Given the description of an element on the screen output the (x, y) to click on. 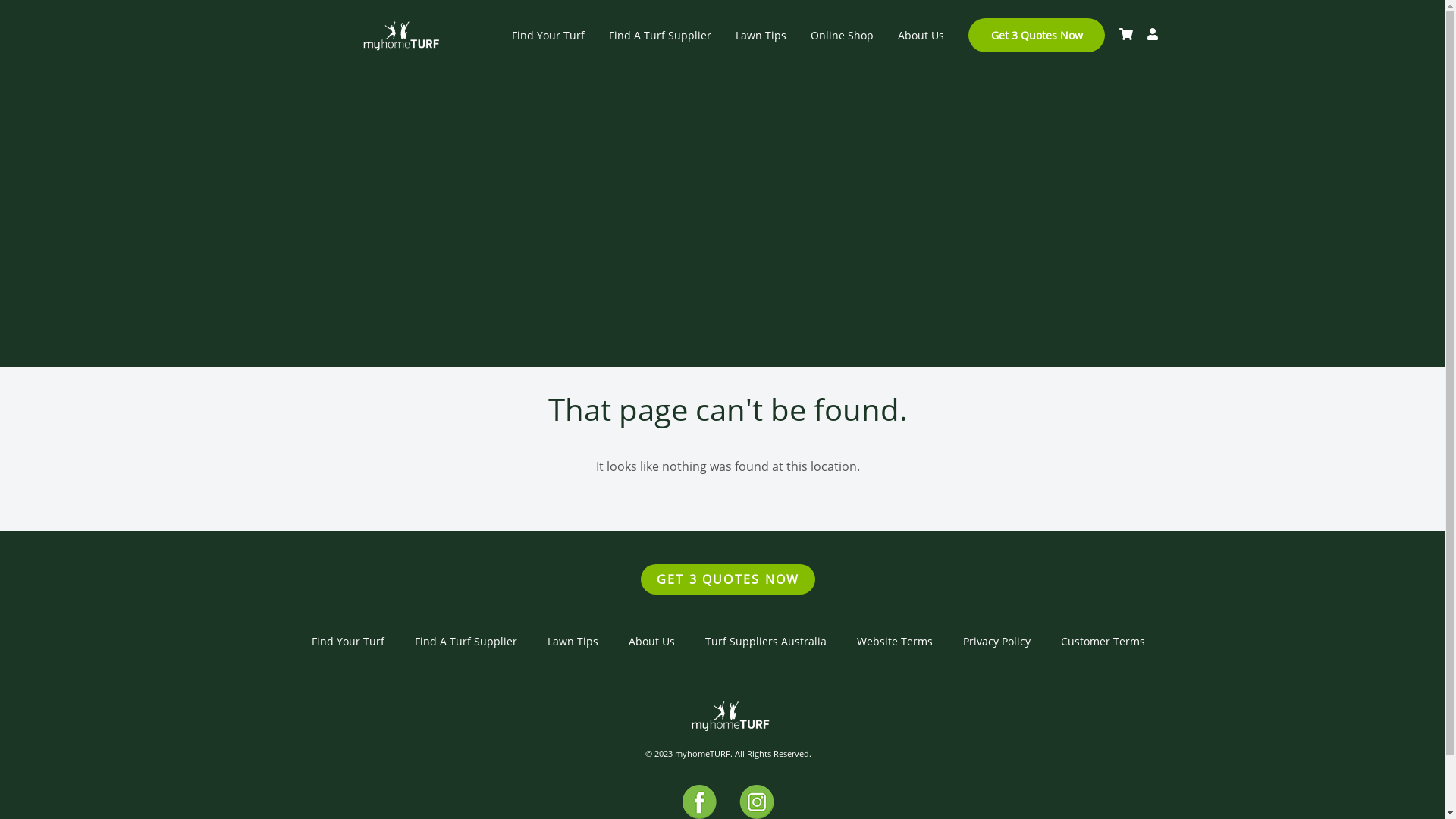
Privacy Policy Element type: text (996, 640)
Find A Turf Supplier Element type: text (659, 35)
Online Shop Element type: text (841, 35)
About Us Element type: text (920, 35)
Lawn Tips Element type: text (760, 35)
Customer Terms Element type: text (1102, 640)
Find Your Turf Element type: text (547, 35)
Website Terms Element type: text (894, 640)
Lawn Tips Element type: text (572, 640)
Get 3 Quotes Now Element type: text (1036, 35)
Find Your Turf Element type: text (346, 640)
Find A Turf Supplier Element type: text (465, 640)
About Us Element type: text (650, 640)
Turf Suppliers Australia Element type: text (765, 640)
GET 3 QUOTES NOW Element type: text (727, 579)
